Given the description of an element on the screen output the (x, y) to click on. 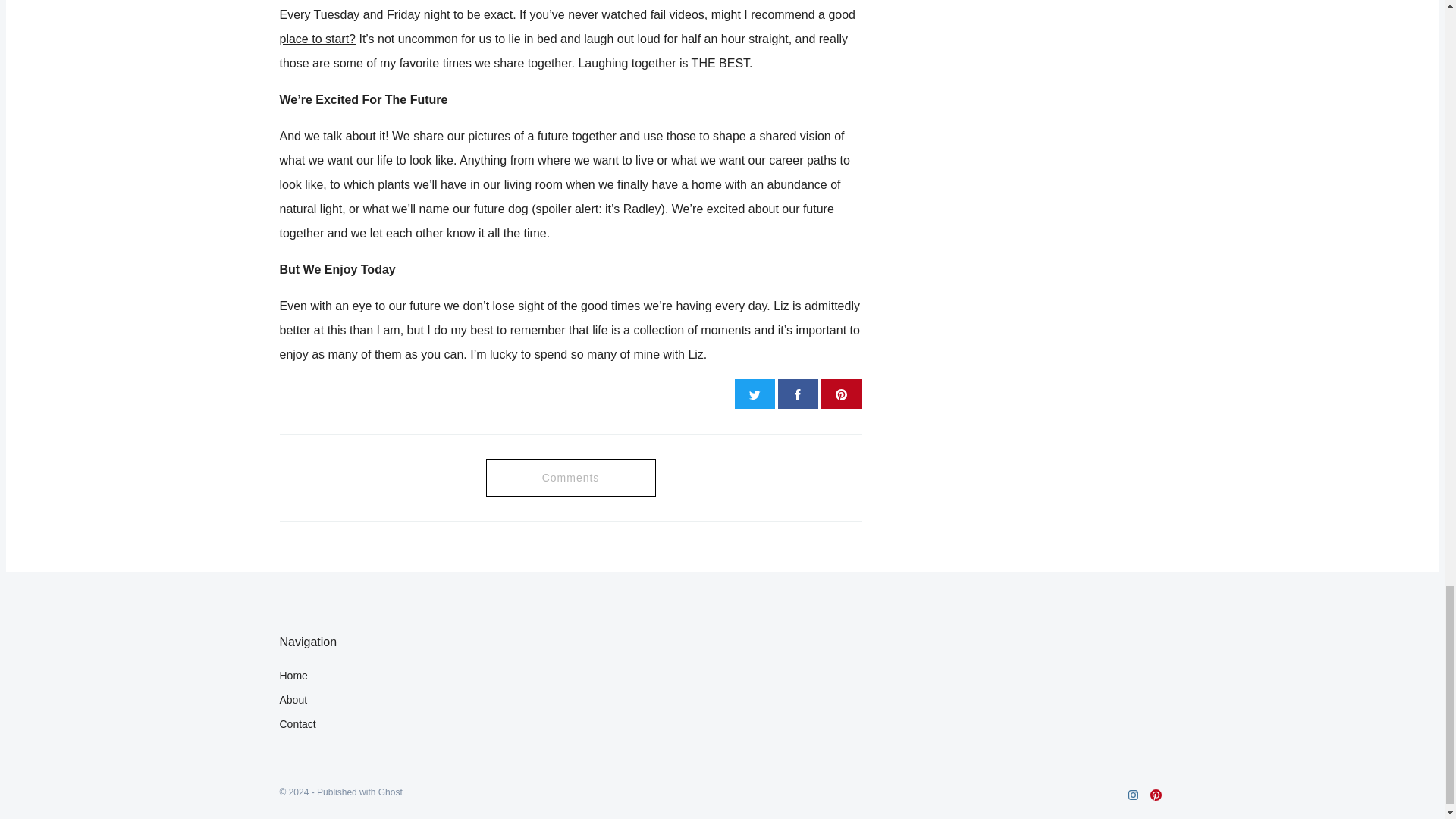
Ghost (390, 792)
Share on Facebook (797, 394)
Share on Pinterest (841, 394)
Comments (569, 477)
Contact (721, 723)
a good place to start? (567, 26)
Home (716, 675)
Share on Twitter (754, 394)
About (716, 699)
